Given the description of an element on the screen output the (x, y) to click on. 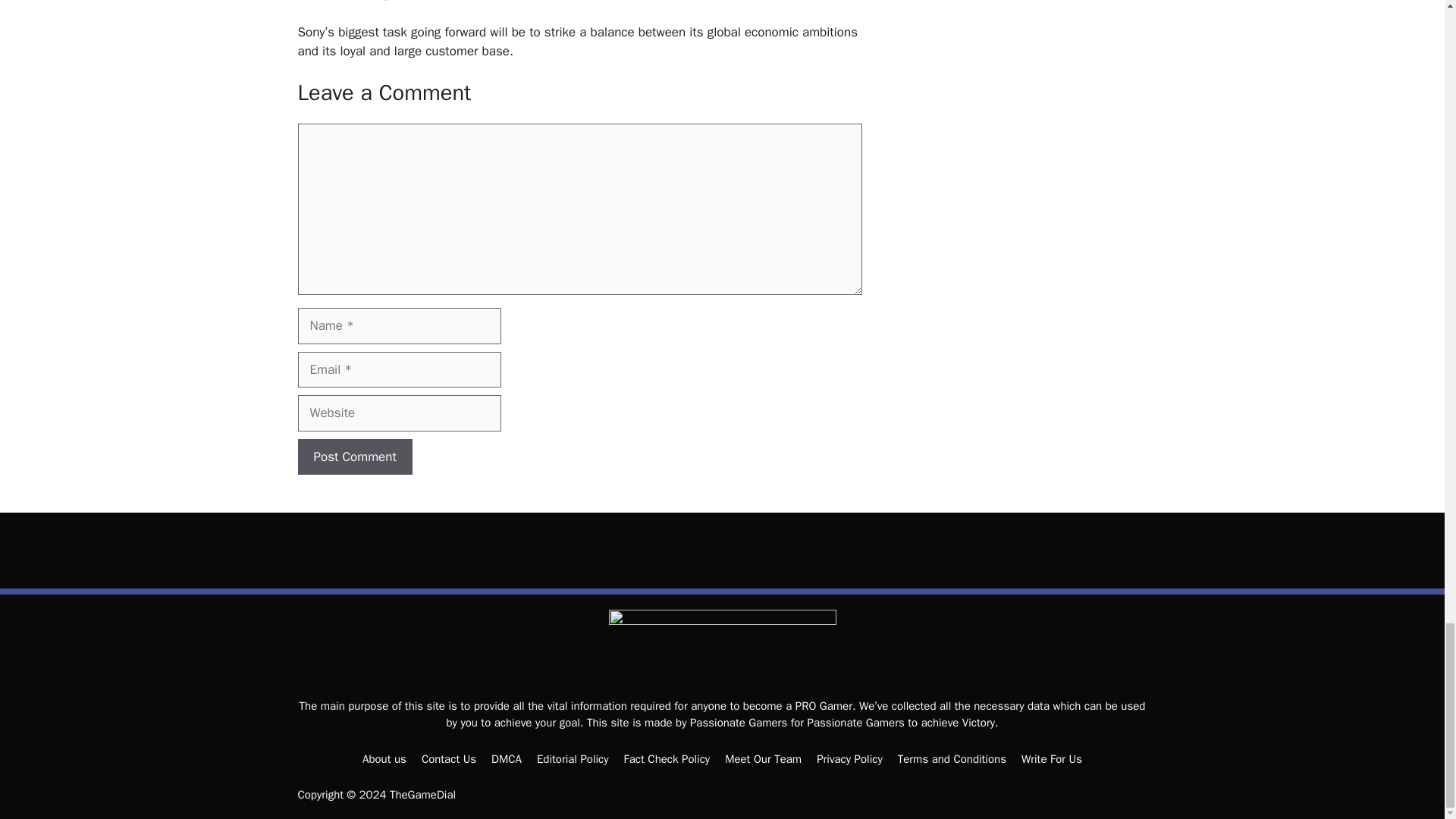
Post Comment (354, 456)
About us (384, 758)
Post Comment (354, 456)
